Given the description of an element on the screen output the (x, y) to click on. 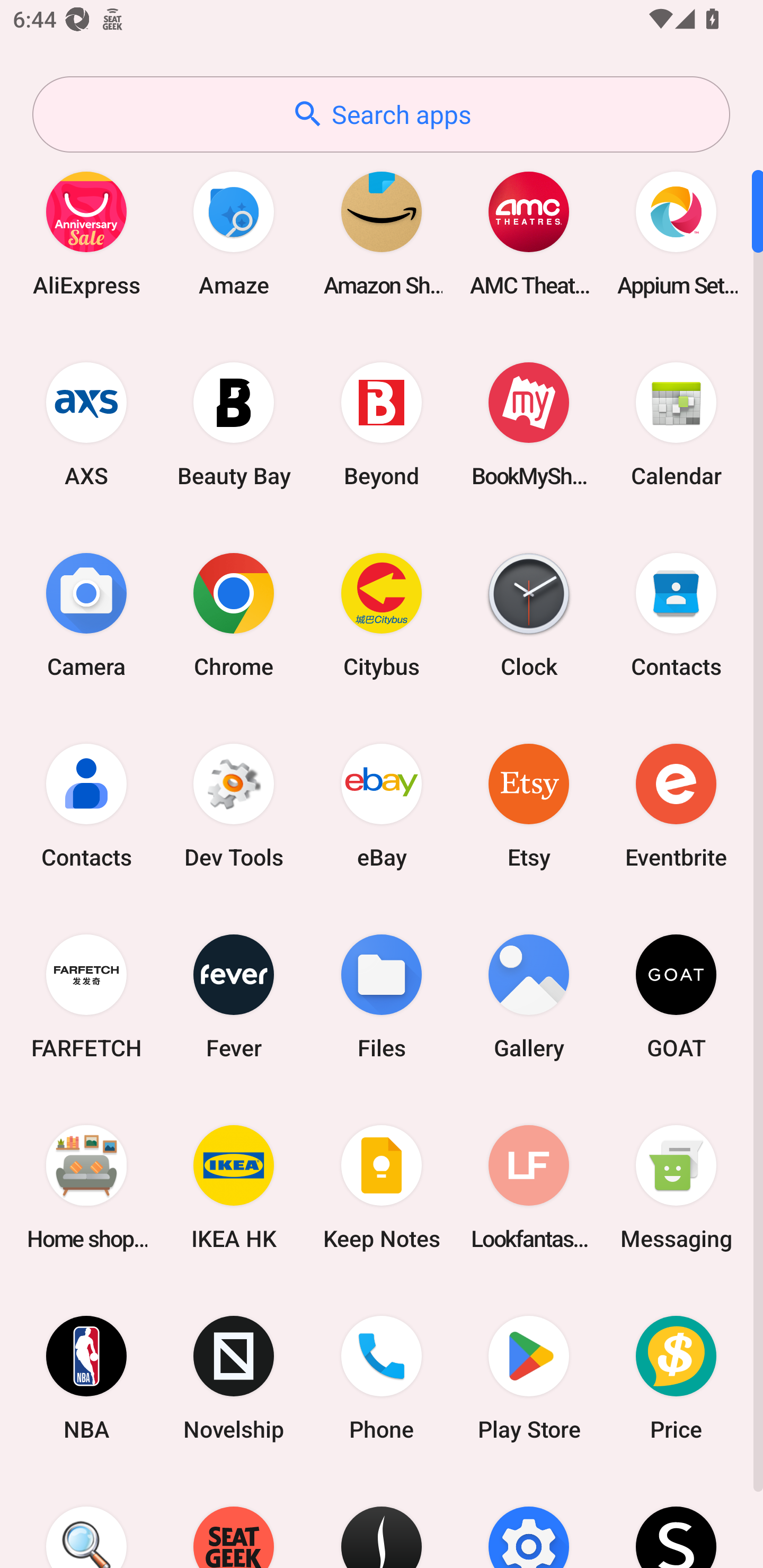
  Search apps (381, 114)
AliExpress (86, 233)
Amaze (233, 233)
Amazon Shopping (381, 233)
AMC Theatres (528, 233)
Appium Settings (676, 233)
AXS (86, 424)
Beauty Bay (233, 424)
Beyond (381, 424)
BookMyShow (528, 424)
Calendar (676, 424)
Camera (86, 614)
Chrome (233, 614)
Citybus (381, 614)
Clock (528, 614)
Contacts (676, 614)
Contacts (86, 805)
Dev Tools (233, 805)
eBay (381, 805)
Etsy (528, 805)
Eventbrite (676, 805)
FARFETCH (86, 996)
Fever (233, 996)
Files (381, 996)
Gallery (528, 996)
GOAT (676, 996)
Home shopping (86, 1186)
IKEA HK (233, 1186)
Keep Notes (381, 1186)
Lookfantastic (528, 1186)
Messaging (676, 1186)
NBA (86, 1377)
Novelship (233, 1377)
Phone (381, 1377)
Play Store (528, 1377)
Price (676, 1377)
